Given the description of an element on the screen output the (x, y) to click on. 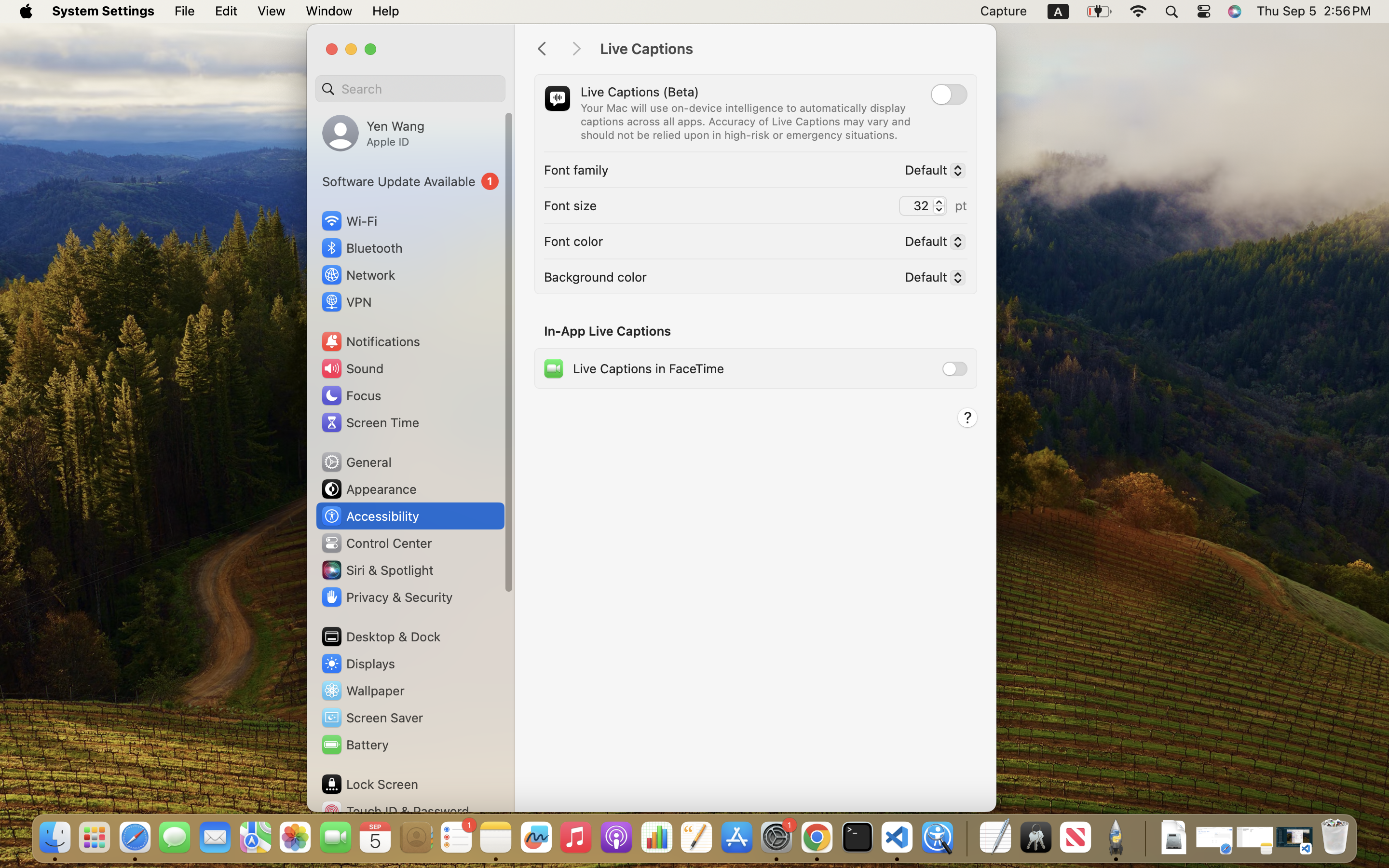
Live Captions Element type: AXStaticText (788, 49)
Network Element type: AXStaticText (357, 274)
Font family Element type: AXStaticText (576, 169)
Touch ID & Password Element type: AXStaticText (394, 810)
Control Center Element type: AXStaticText (376, 542)
